Given the description of an element on the screen output the (x, y) to click on. 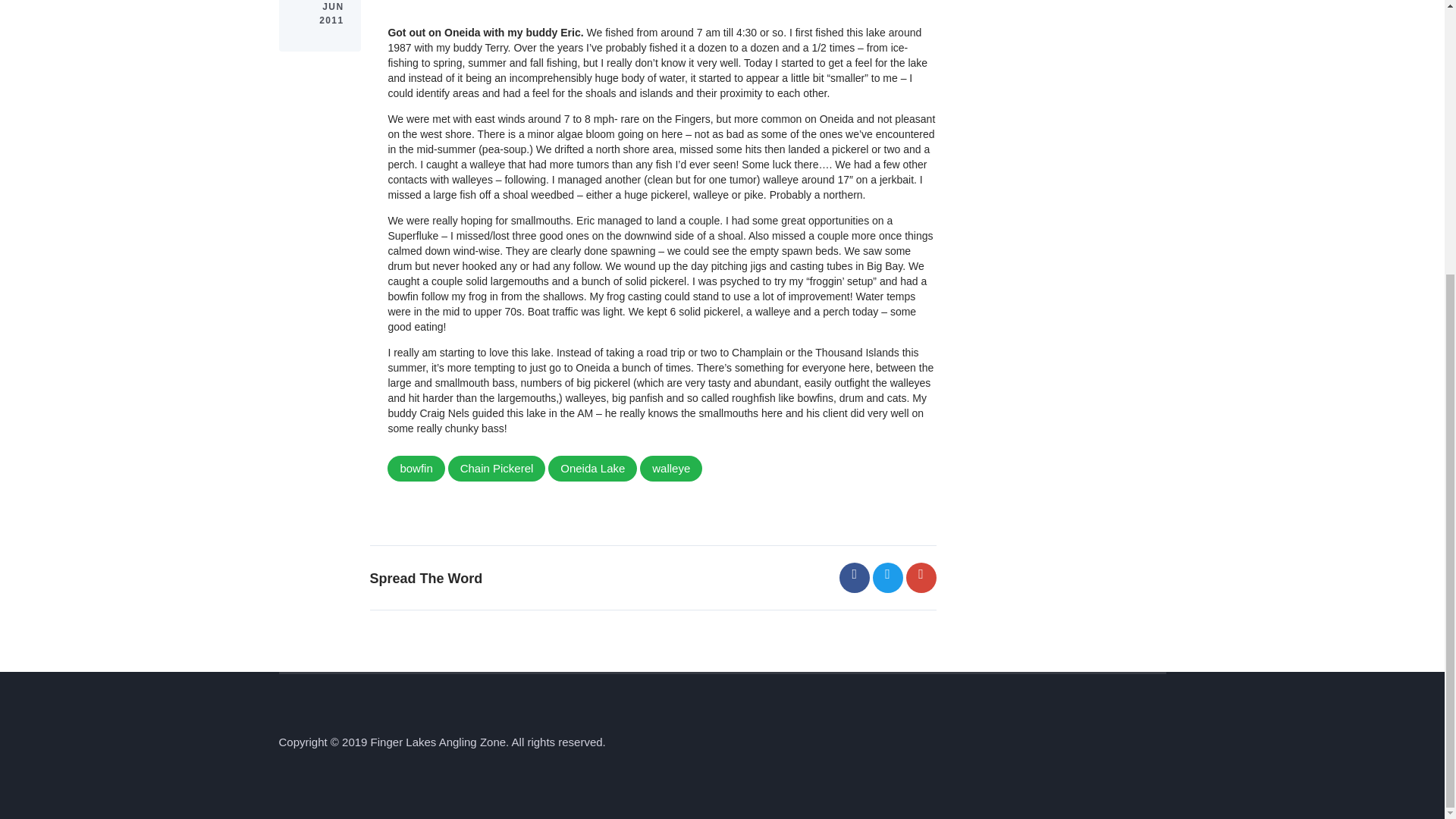
walleye (670, 468)
bowfin (415, 468)
Oneida Lake (592, 468)
Chain Pickerel (497, 468)
